Given the description of an element on the screen output the (x, y) to click on. 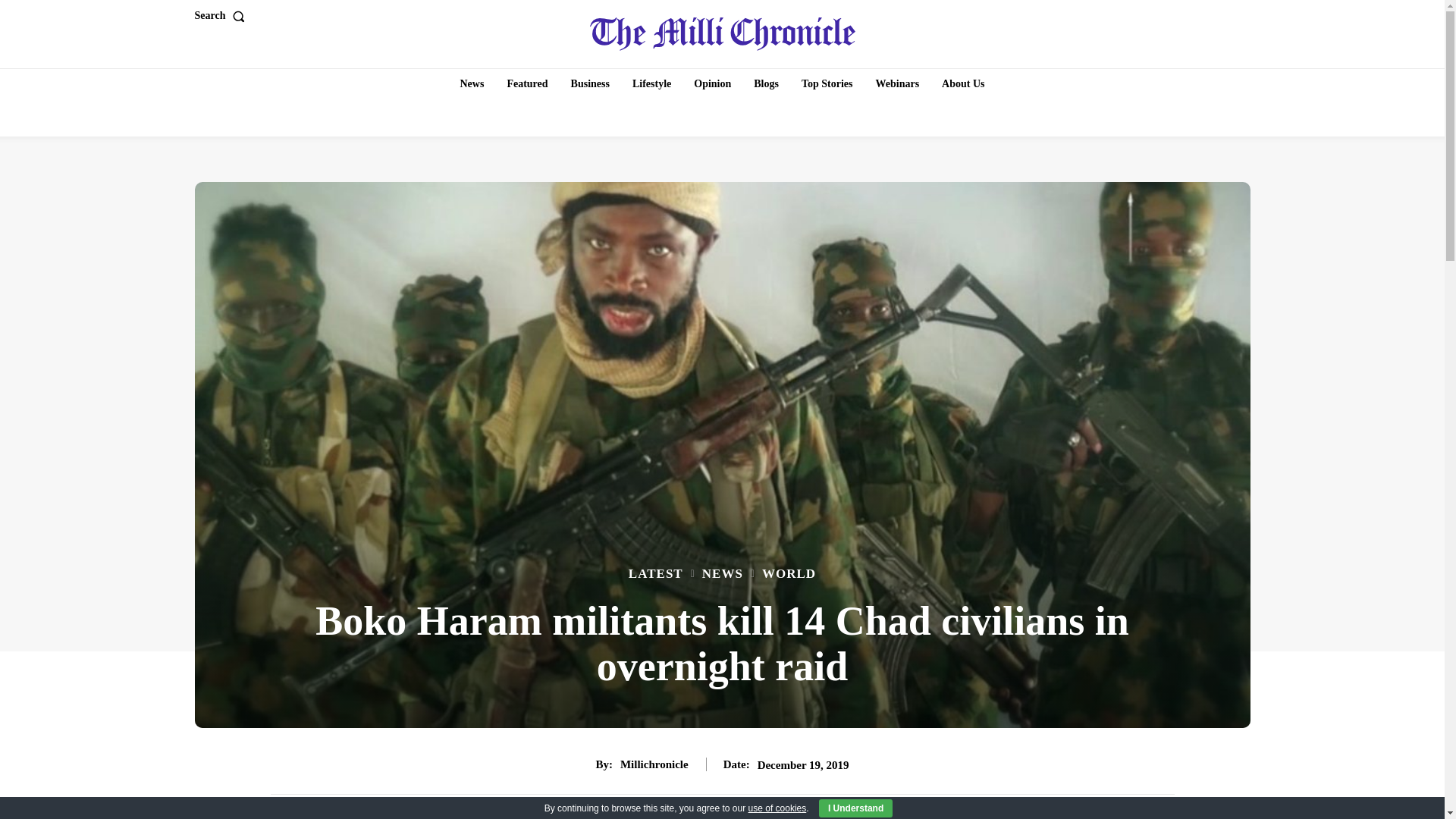
Business (590, 83)
Featured (526, 83)
News (471, 83)
Lifestyle (651, 83)
Search (221, 15)
